Given the description of an element on the screen output the (x, y) to click on. 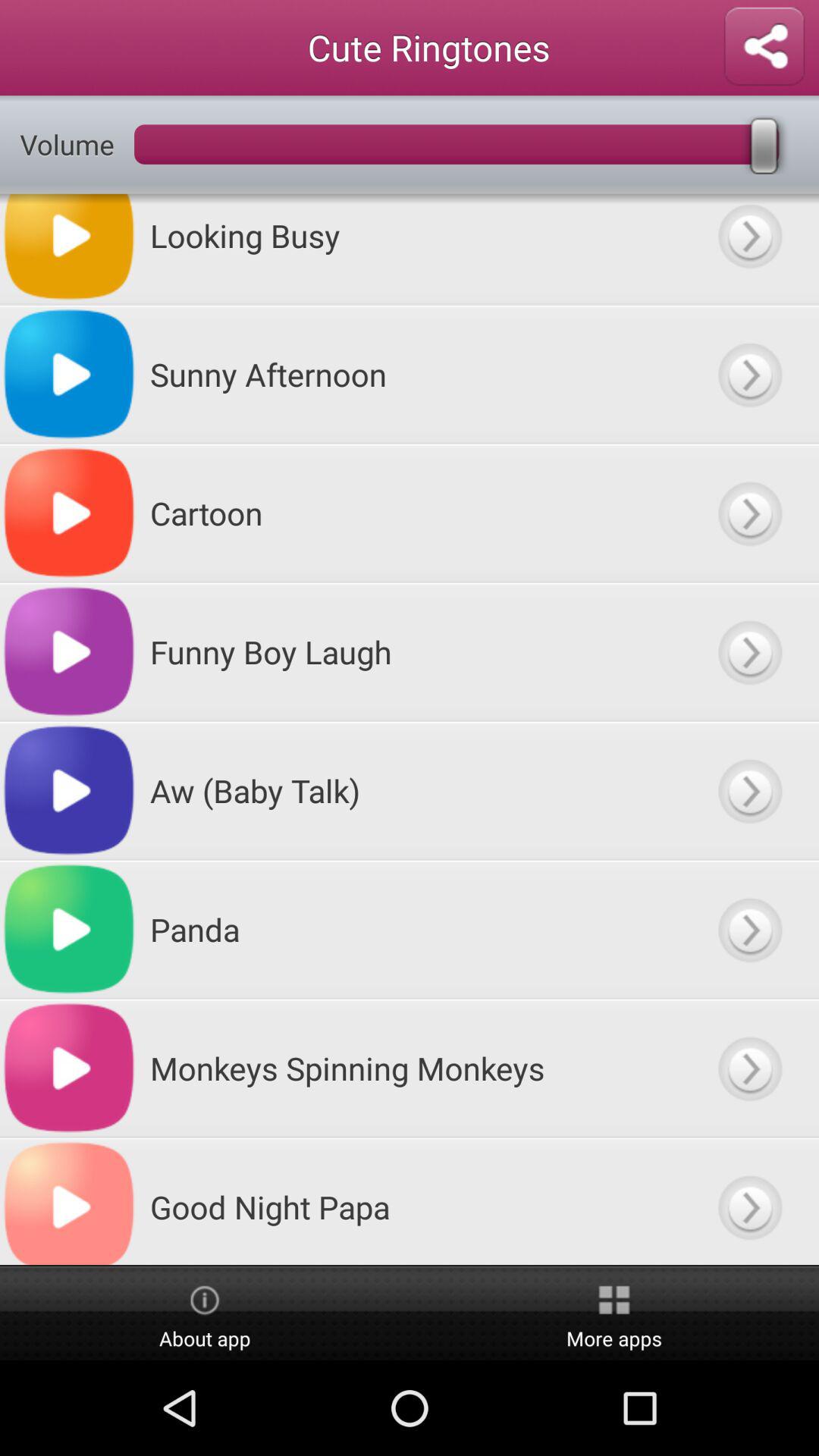
share button (764, 47)
